Given the description of an element on the screen output the (x, y) to click on. 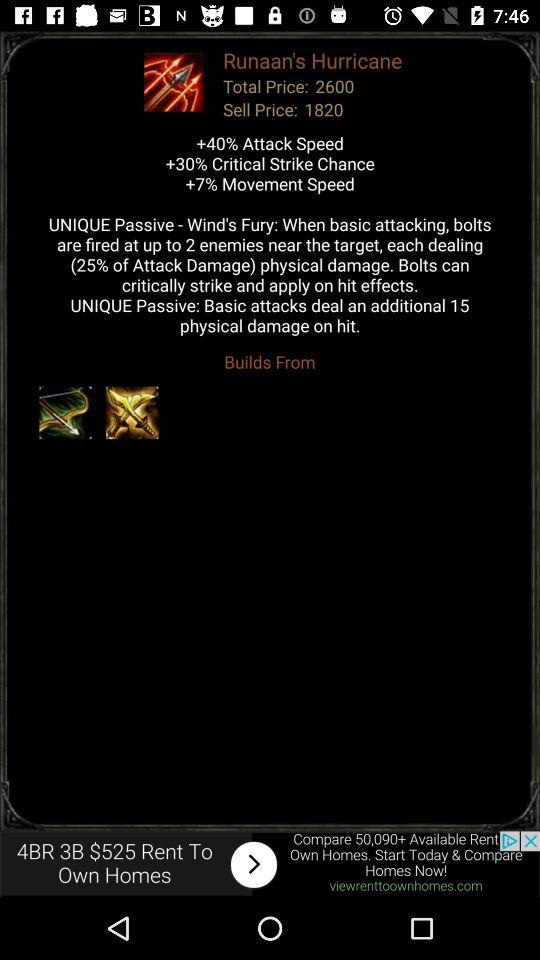
go to advertisements website (270, 864)
